Given the description of an element on the screen output the (x, y) to click on. 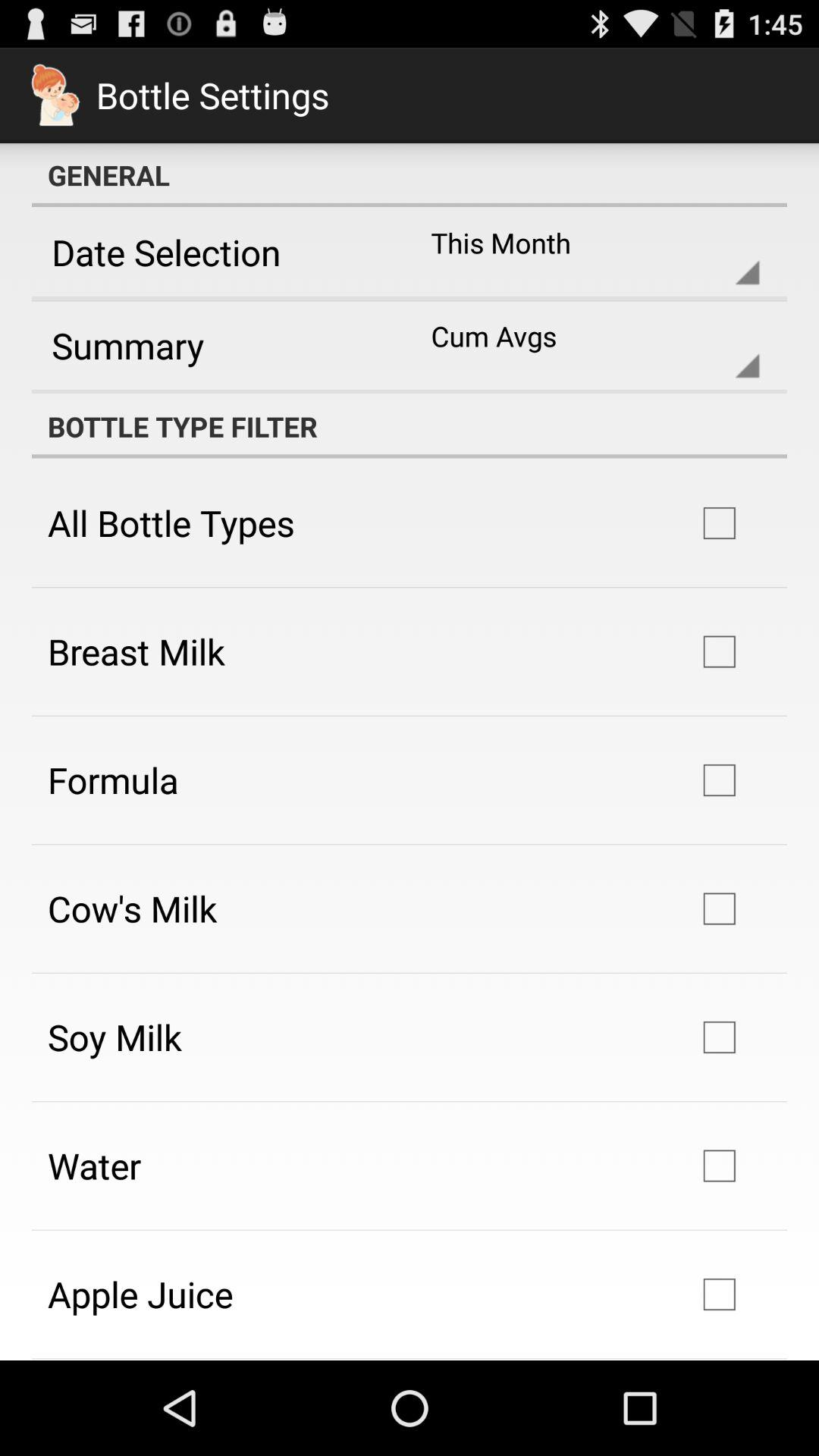
launch the icon above breast milk (170, 522)
